Given the description of an element on the screen output the (x, y) to click on. 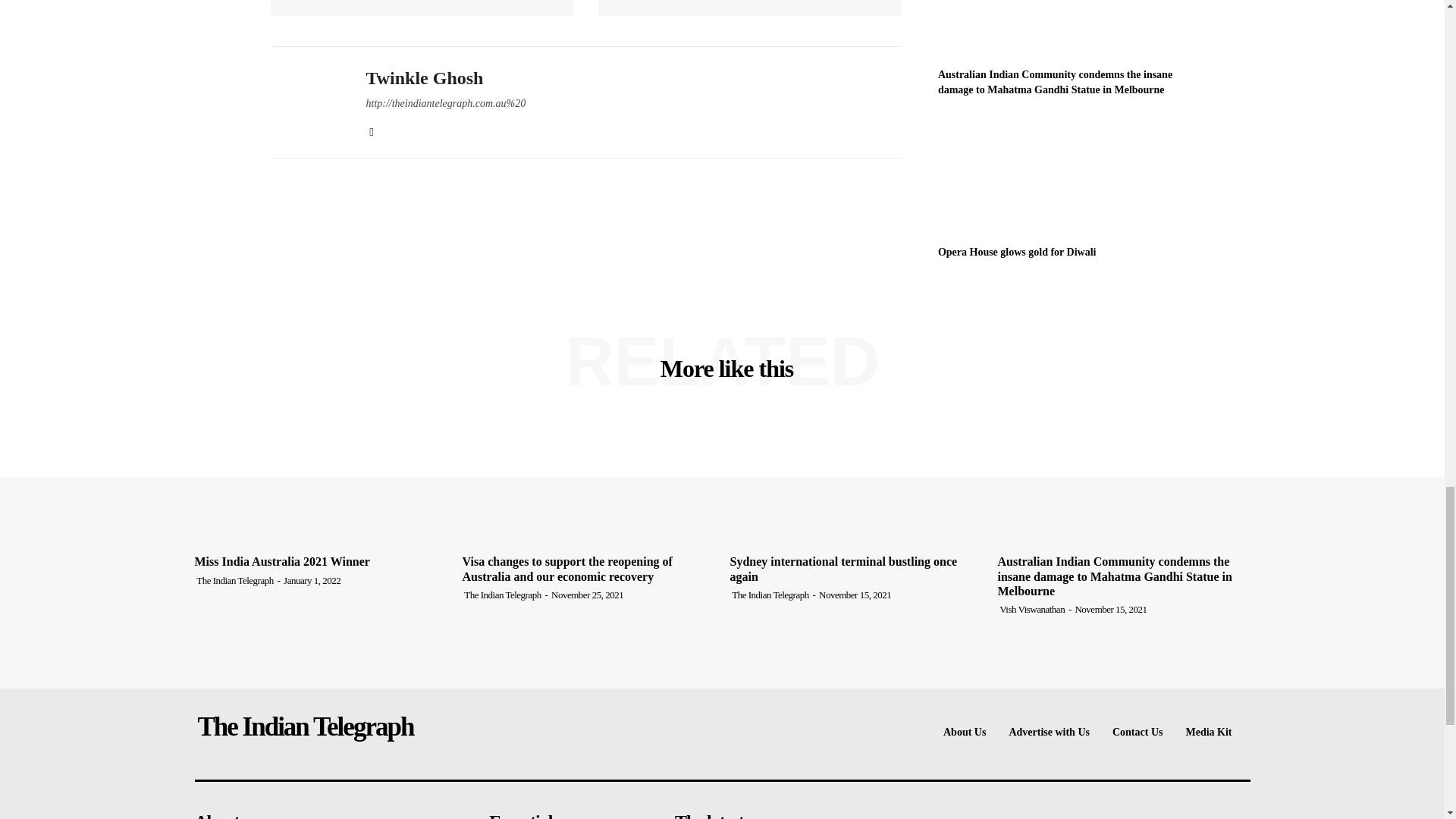
facebook (371, 129)
Twinkle Ghosh (305, 102)
